Given the description of an element on the screen output the (x, y) to click on. 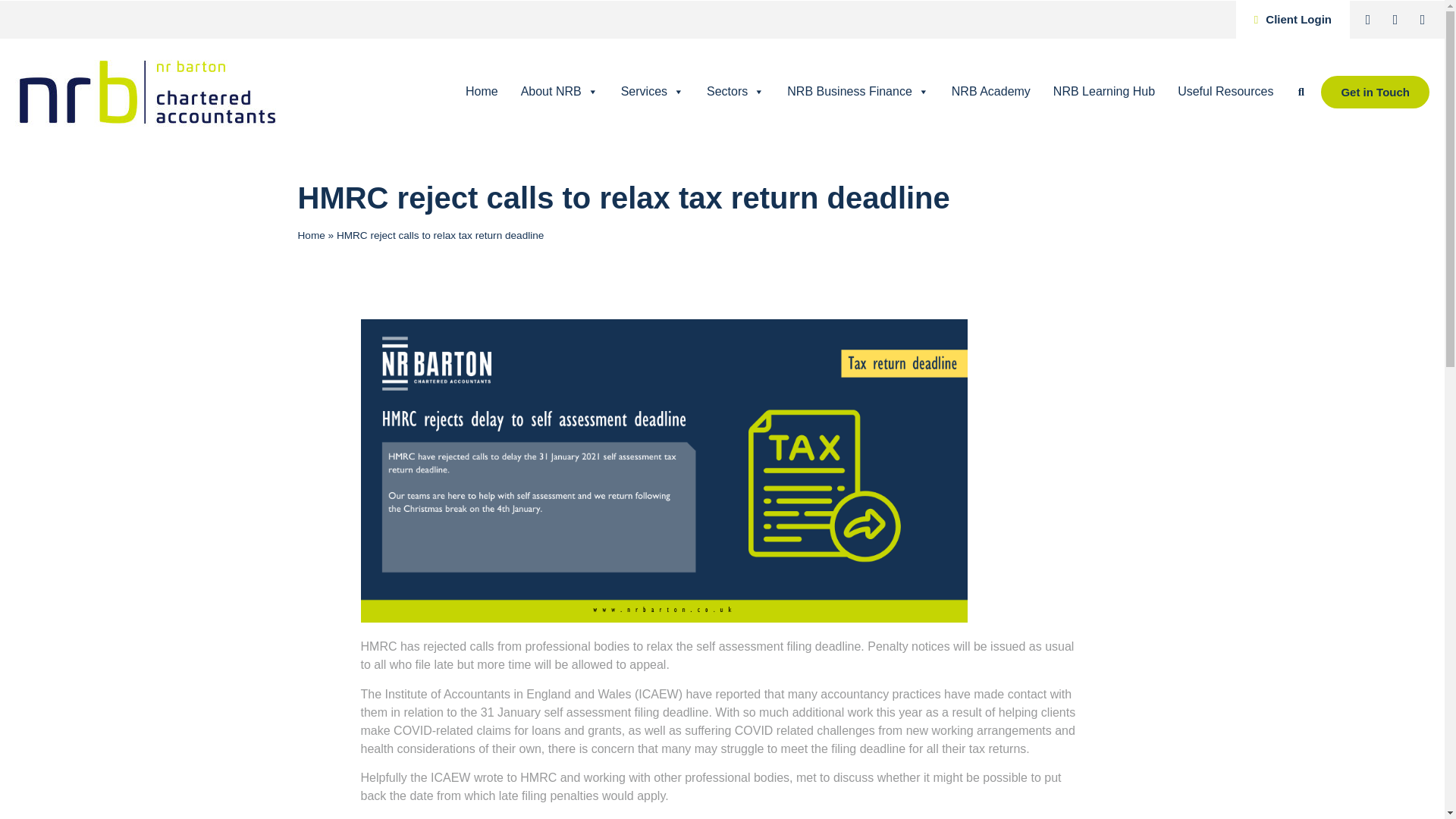
Client Login (1292, 19)
